Given the description of an element on the screen output the (x, y) to click on. 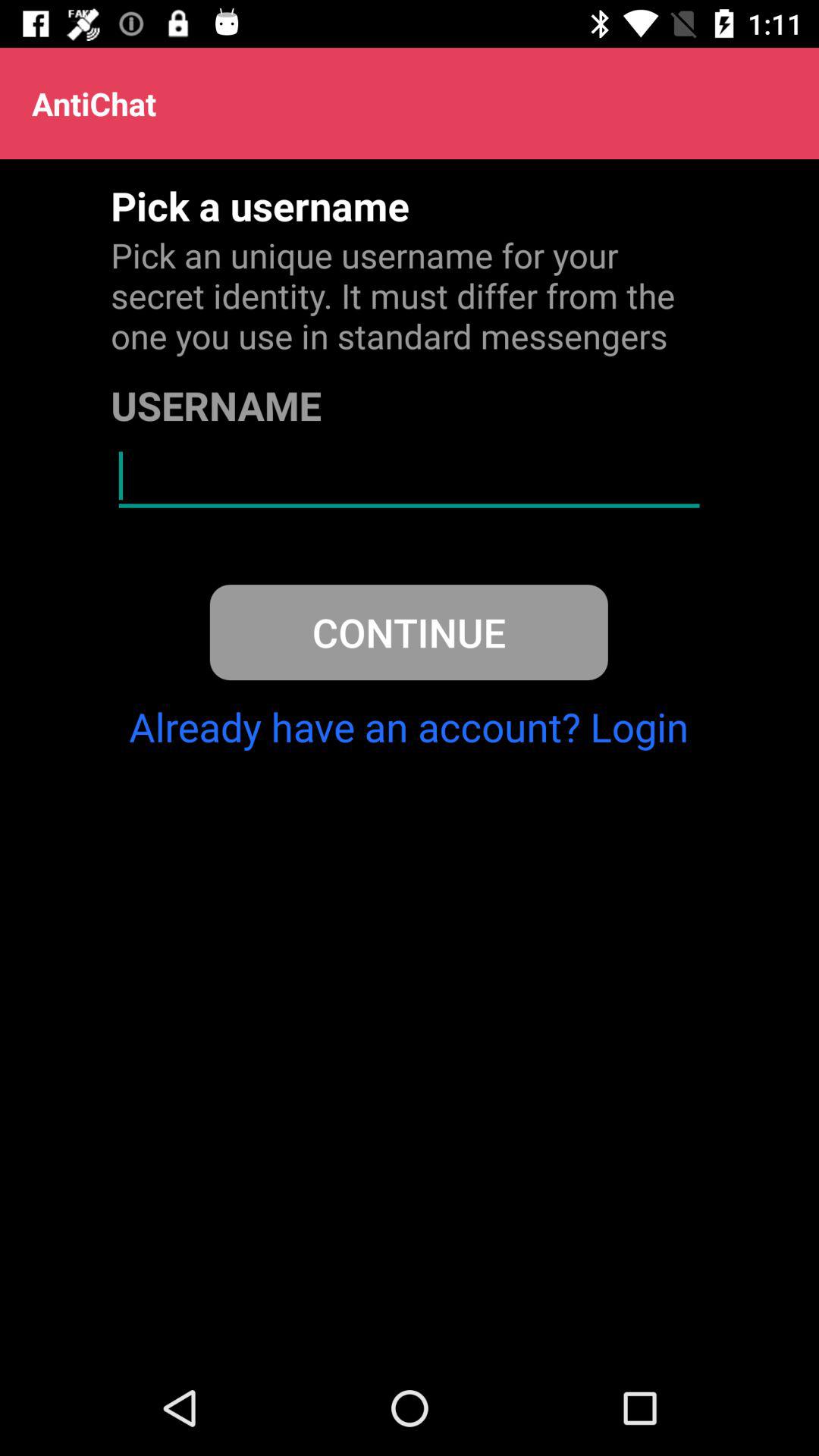
turn on the item above the already have an icon (408, 632)
